Given the description of an element on the screen output the (x, y) to click on. 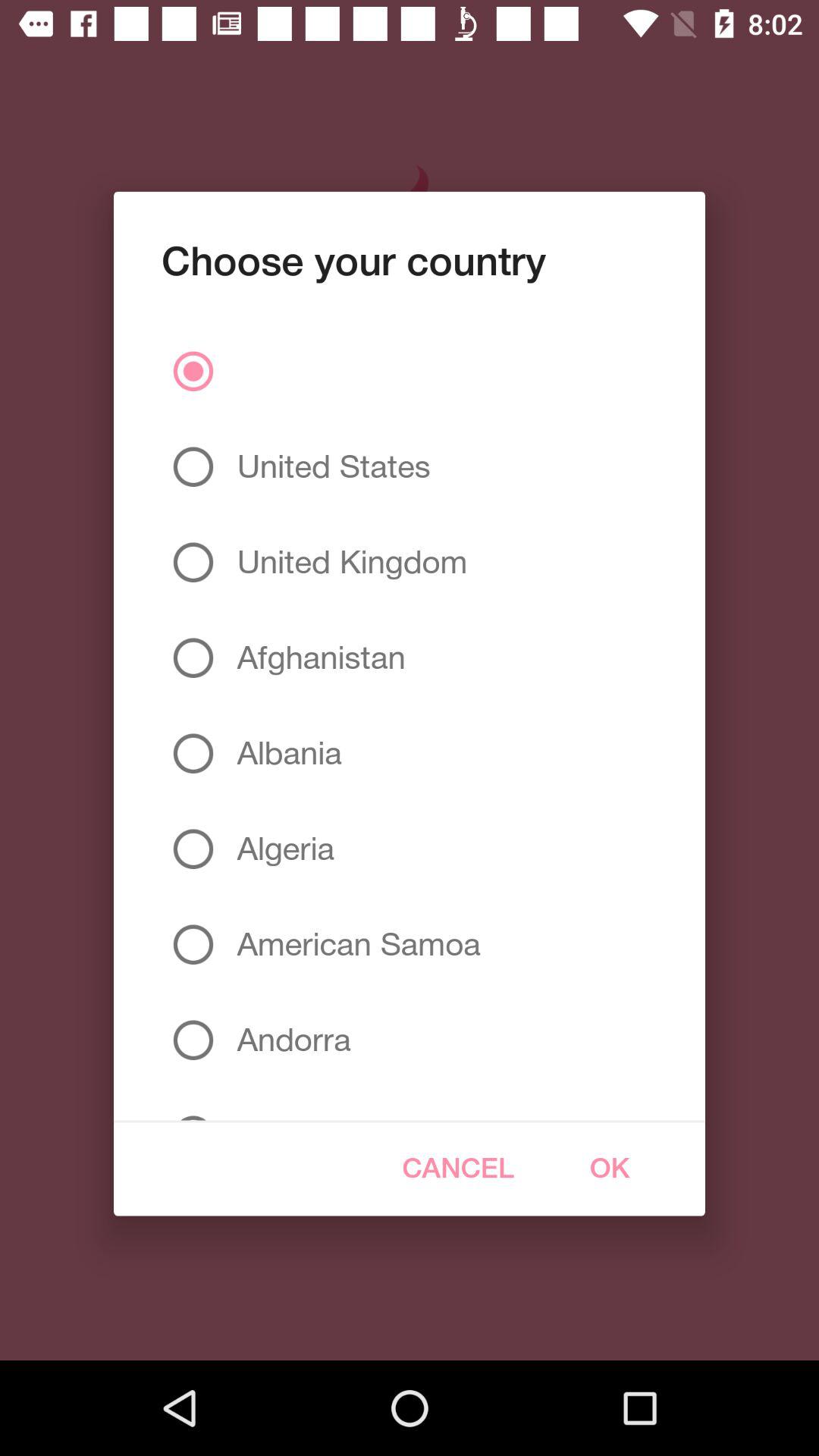
launch american samoa item (352, 944)
